Given the description of an element on the screen output the (x, y) to click on. 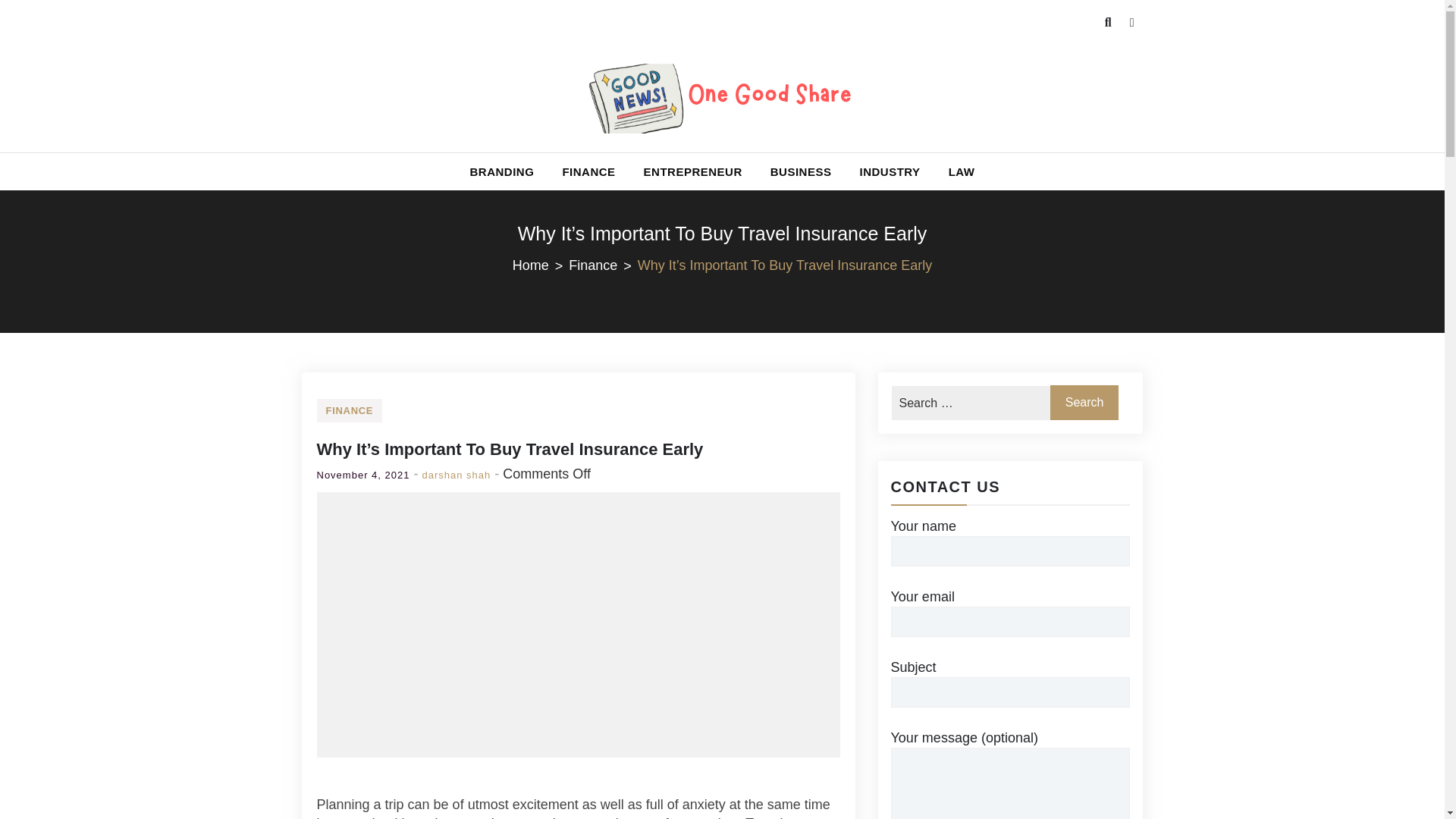
BRANDING (502, 171)
November 4, 2021 (363, 474)
ENTREPRENEUR (692, 171)
INDUSTRY (889, 171)
Search (1084, 402)
Search (1084, 402)
Search (1084, 402)
One Good Share (503, 169)
FINANCE (349, 410)
Search (46, 31)
